Given the description of an element on the screen output the (x, y) to click on. 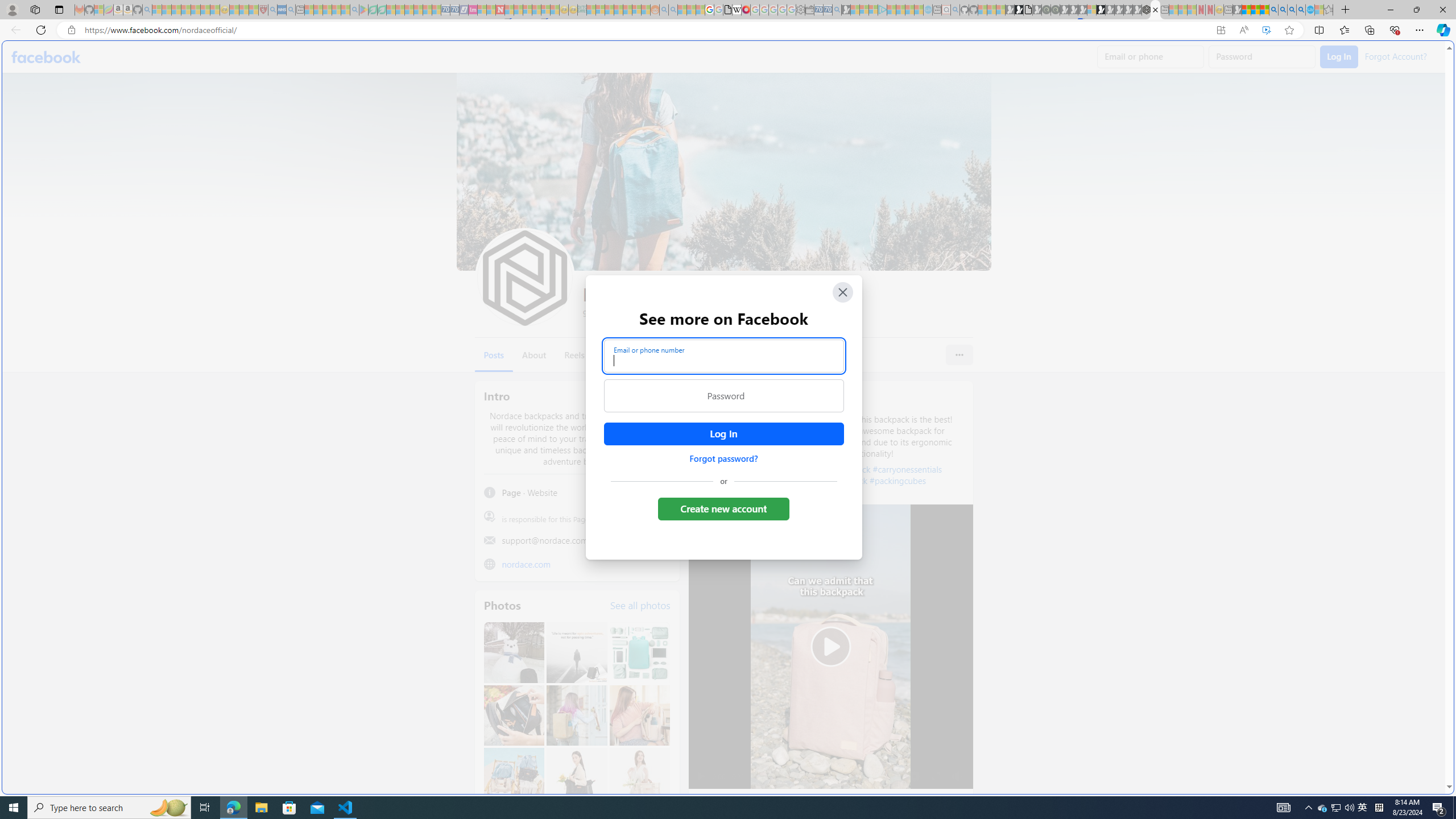
Home | Sky Blue Bikes - Sky Blue Bikes (1118, 242)
Settings - Sleeping (799, 9)
Forgot password? (723, 458)
World - MSN (727, 389)
